Given the description of an element on the screen output the (x, y) to click on. 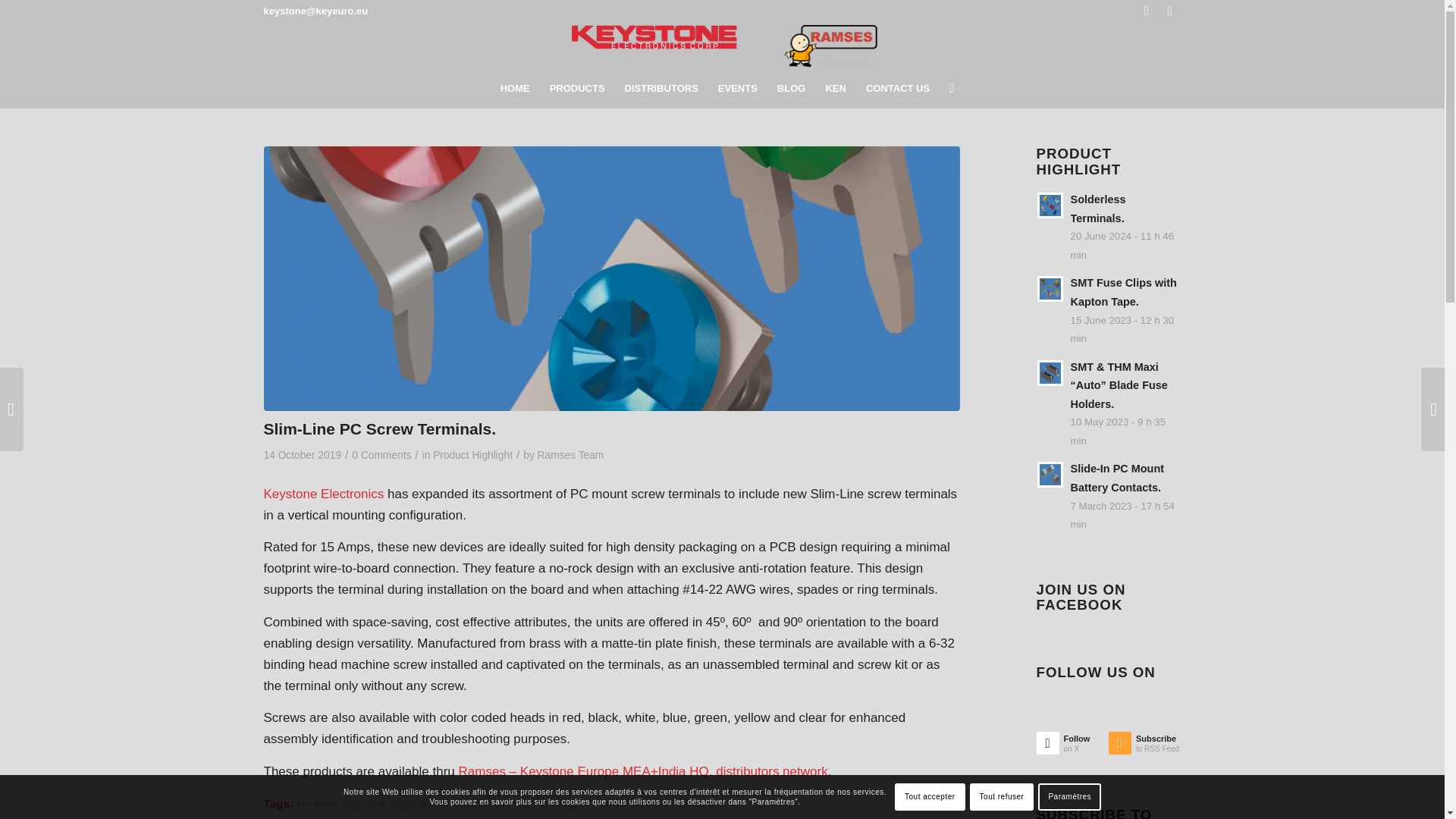
Product Highlight (472, 455)
BLOG (791, 88)
keyeuro (363, 802)
KEN (835, 88)
0 Comments (381, 455)
CONTACT US (897, 88)
Ramses Team (570, 455)
EVENTS (737, 88)
keyelco (316, 802)
screw (608, 802)
terminals (702, 802)
keystone europe (545, 802)
HOME (515, 88)
Posts by Ramses Team (570, 455)
